Given the description of an element on the screen output the (x, y) to click on. 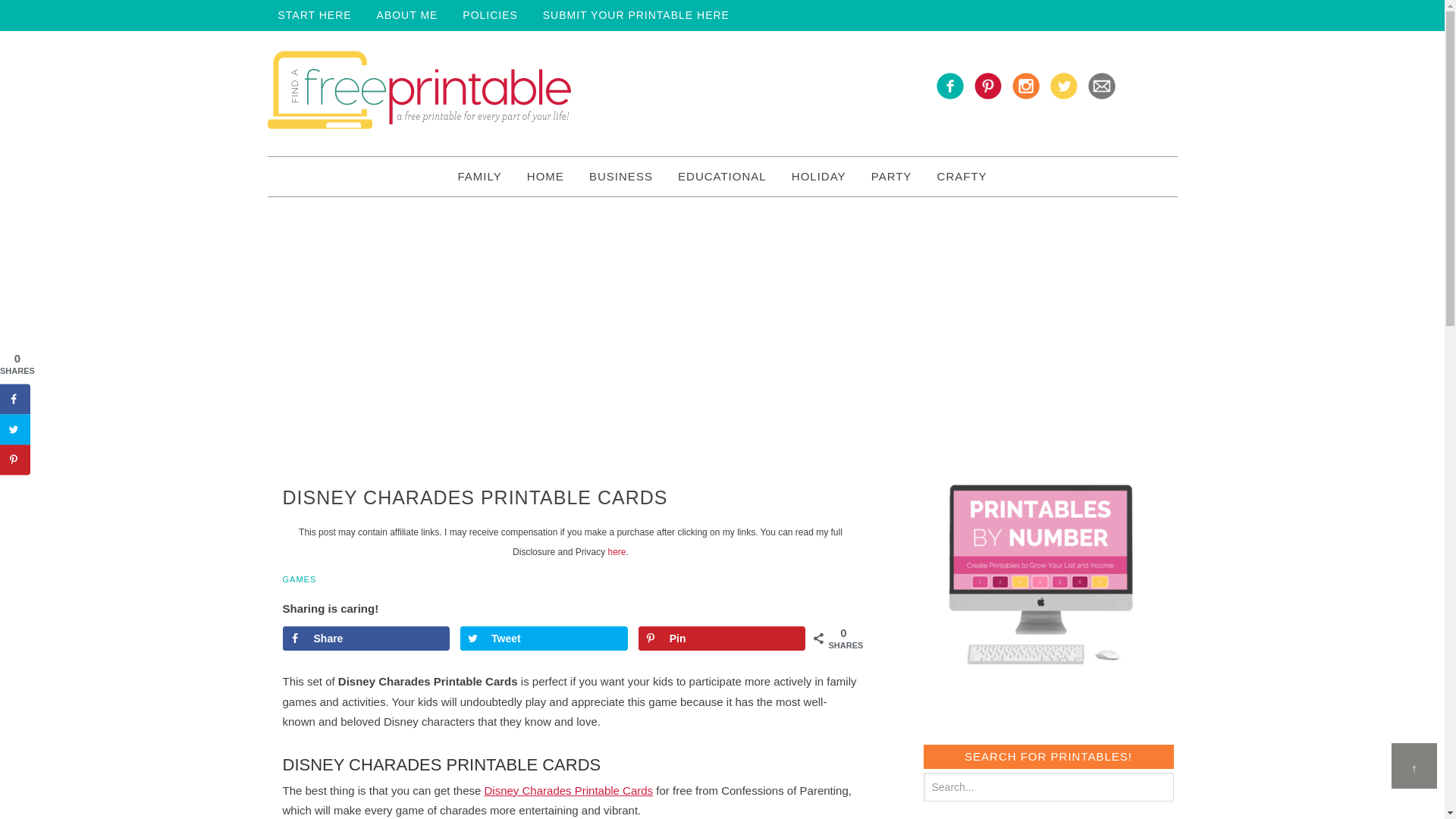
FIND A FREE PRINTABLE (418, 93)
POLICIES (489, 15)
FAMILY (479, 176)
HOLIDAY (818, 176)
EDUCATIONAL (721, 176)
Share on Twitter (543, 638)
Share on Facebook (365, 638)
START HERE (313, 15)
Save to Pinterest (722, 638)
SUBMIT YOUR PRINTABLE HERE (635, 15)
HOME (545, 176)
Share on Facebook (15, 399)
ABOUT ME (407, 15)
BUSINESS (620, 176)
